Given the description of an element on the screen output the (x, y) to click on. 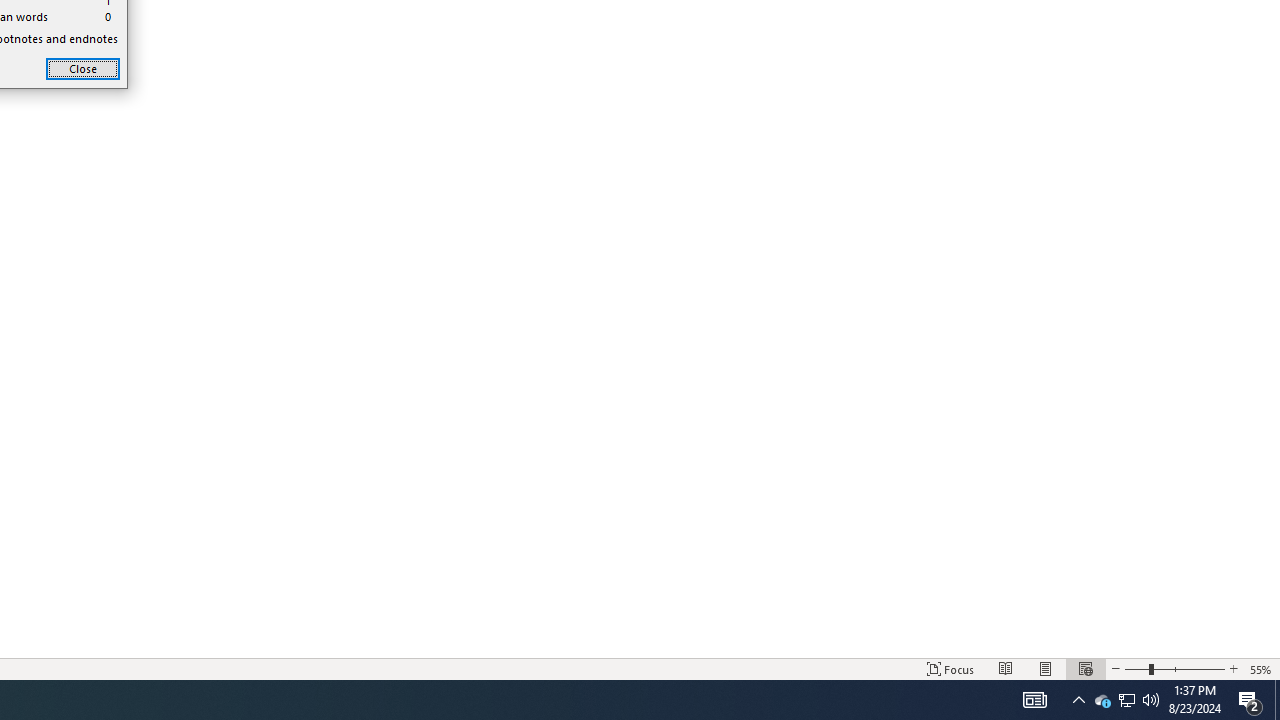
Zoom 55% (1261, 668)
